Given the description of an element on the screen output the (x, y) to click on. 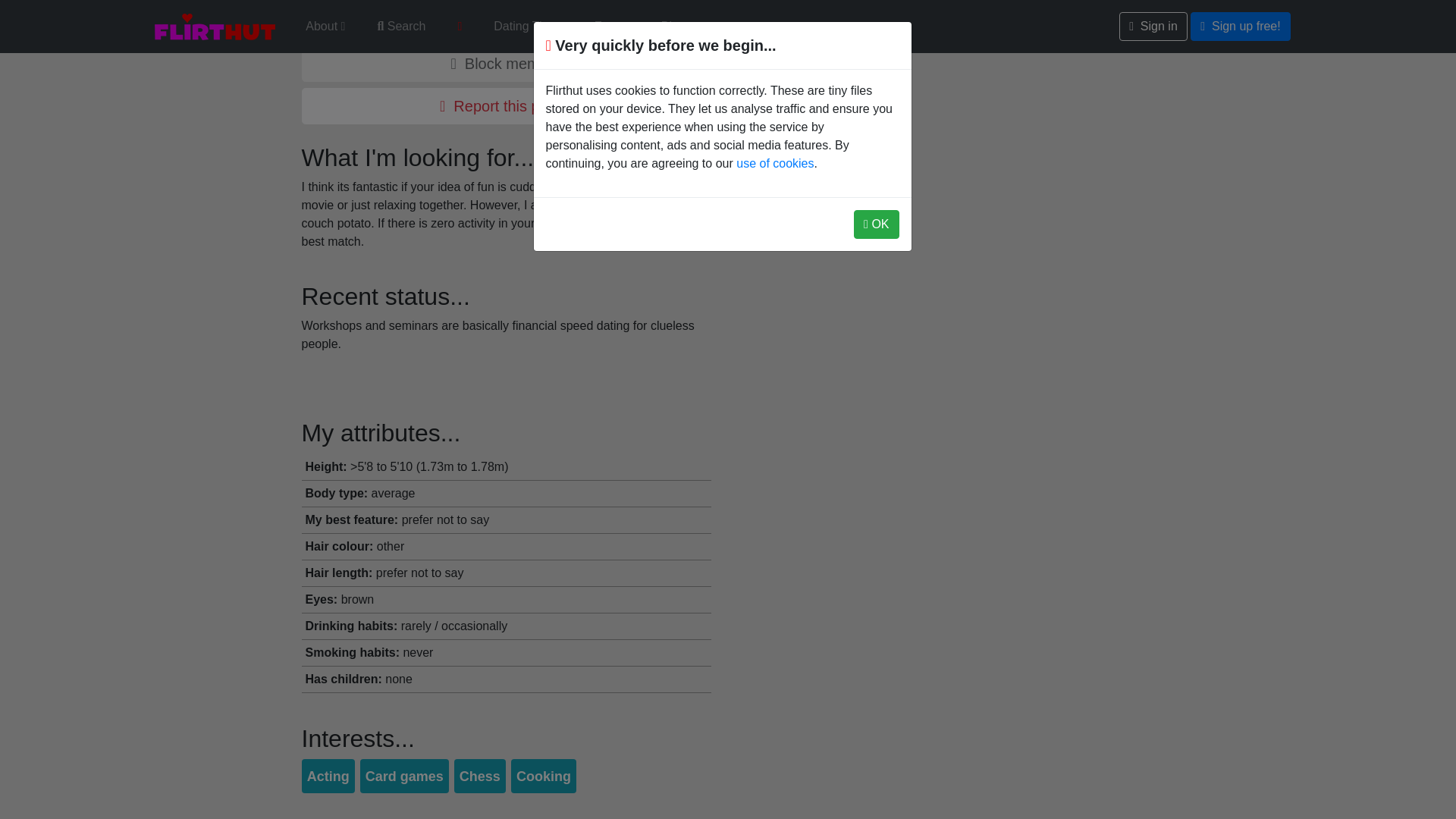
316300 (506, 63)
316300 (506, 21)
